Given the description of an element on the screen output the (x, y) to click on. 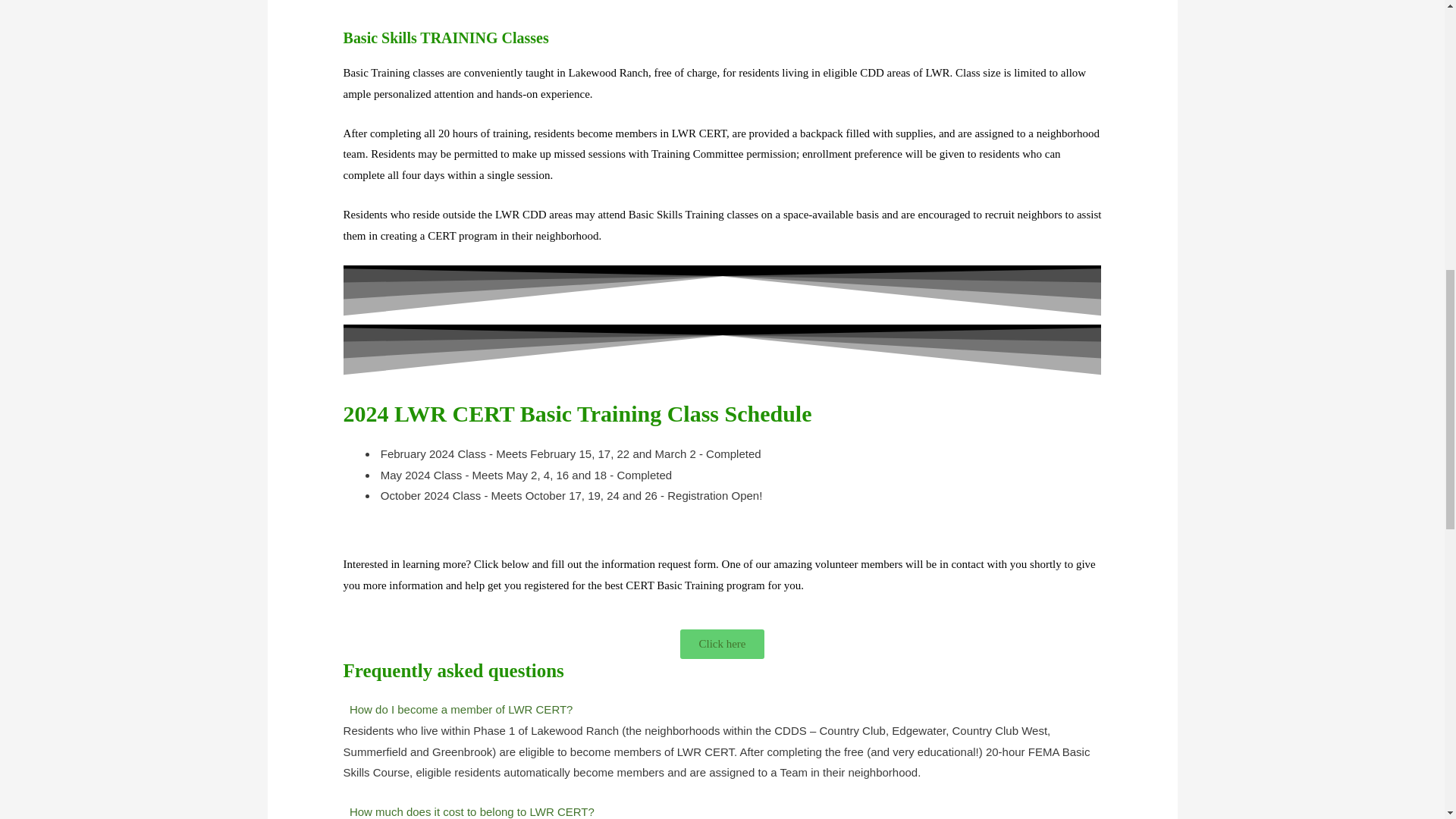
How much does it cost to belong to LWR CERT? (471, 811)
Click here (720, 644)
How do I become a member of LWR CERT? (461, 708)
